Given the description of an element on the screen output the (x, y) to click on. 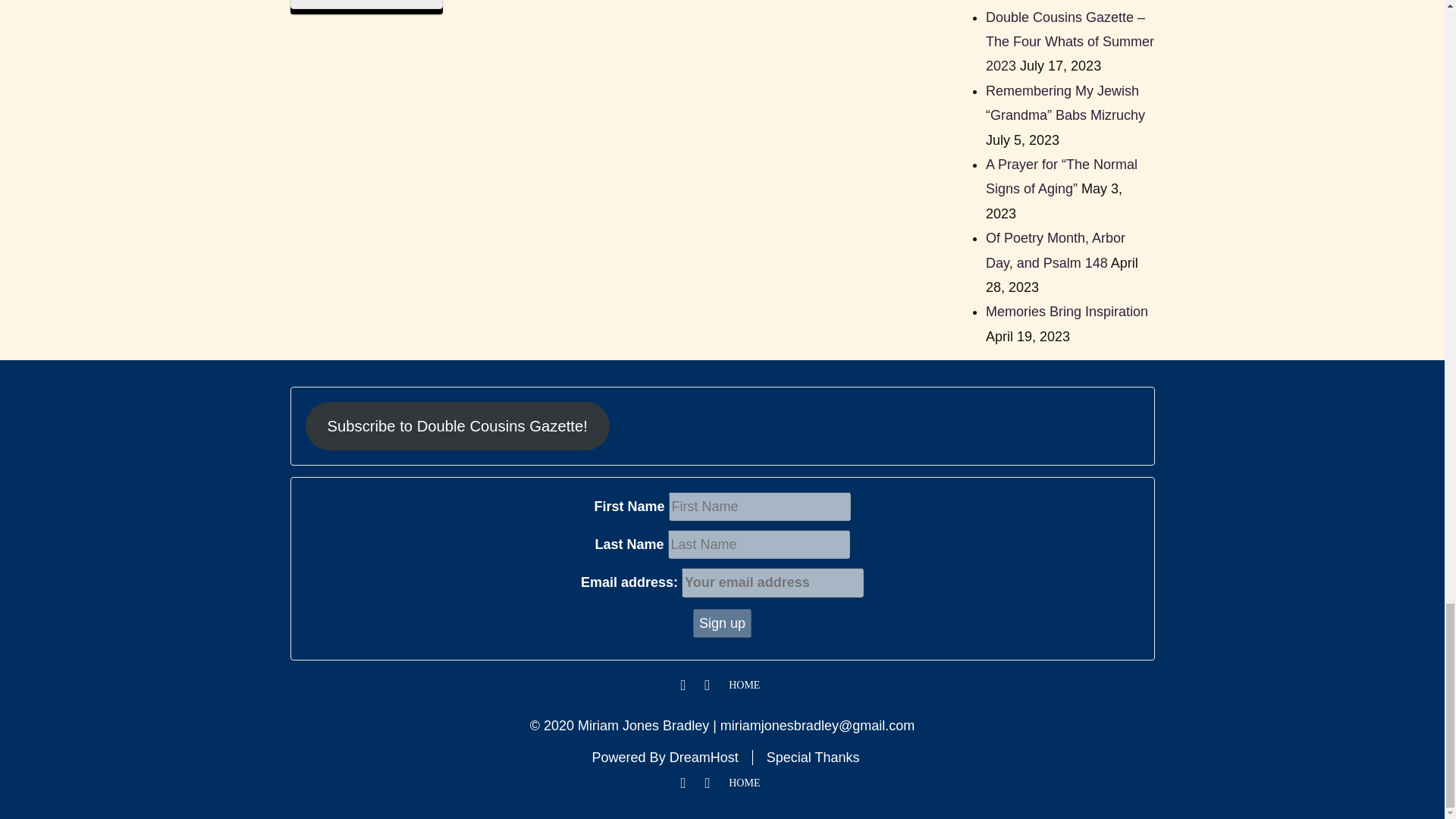
Twitter (706, 685)
Facebook (683, 685)
Facebook (683, 782)
Post Comment (365, 4)
Post Comment (365, 4)
Sign up (722, 623)
Twitter (706, 782)
